Given the description of an element on the screen output the (x, y) to click on. 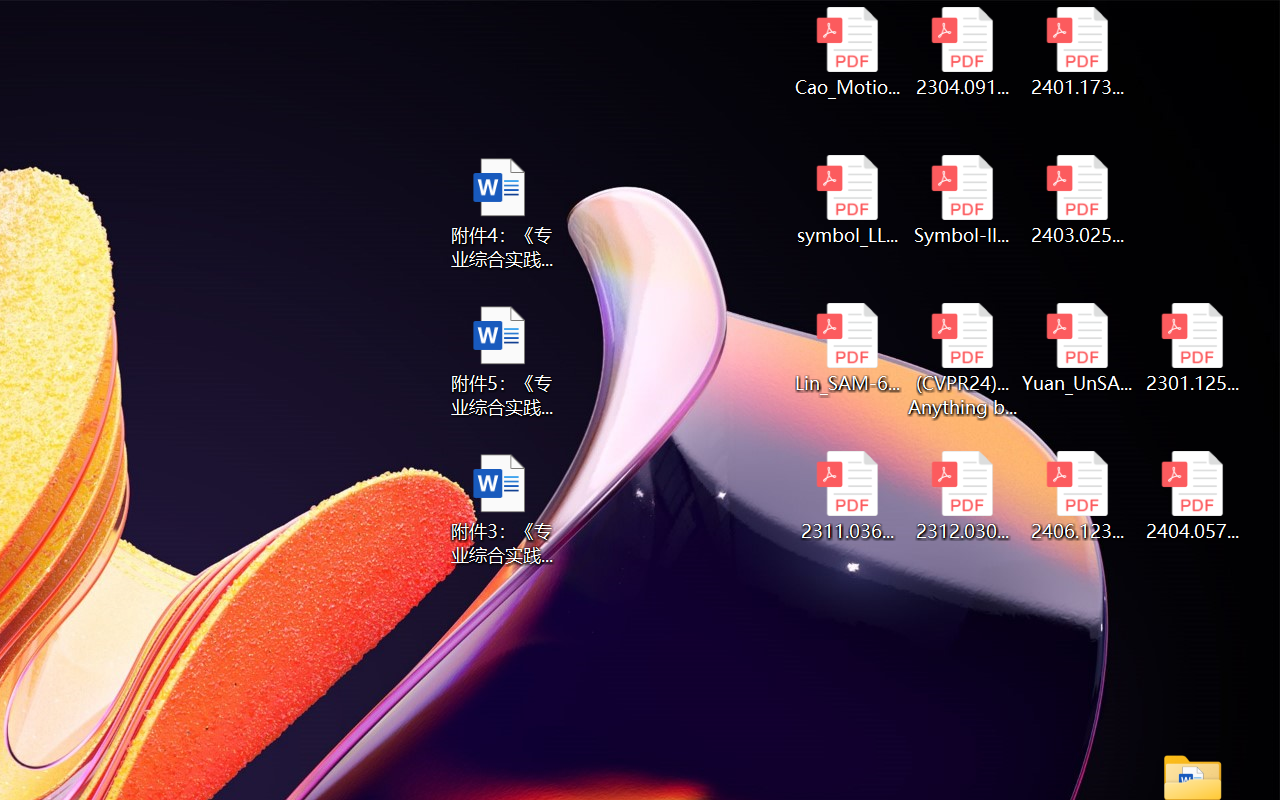
2403.02502v1.pdf (1077, 200)
2406.12373v2.pdf (1077, 496)
2311.03658v2.pdf (846, 496)
symbol_LLM.pdf (846, 200)
2401.17399v1.pdf (1077, 52)
2304.09121v3.pdf (962, 52)
2312.03032v2.pdf (962, 496)
2404.05719v1.pdf (1192, 496)
(CVPR24)Matching Anything by Segmenting Anything.pdf (962, 360)
2301.12597v3.pdf (1192, 348)
Symbol-llm-v2.pdf (962, 200)
